Given the description of an element on the screen output the (x, y) to click on. 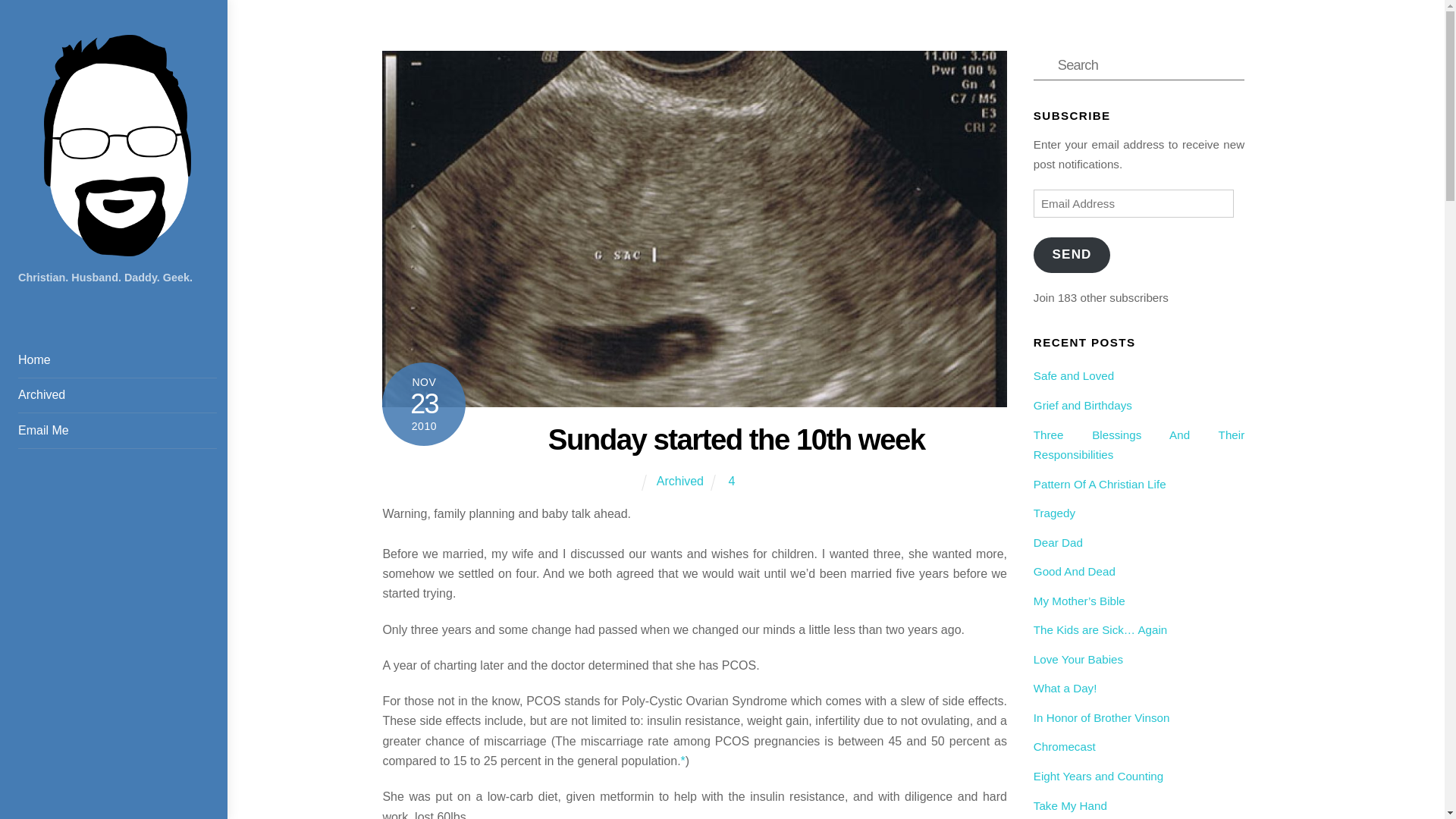
Archived (116, 396)
Email Me (116, 430)
DiscipleGeek (116, 249)
Archived (679, 481)
Sunday started the 10th week (736, 439)
Home (116, 360)
